Given the description of an element on the screen output the (x, y) to click on. 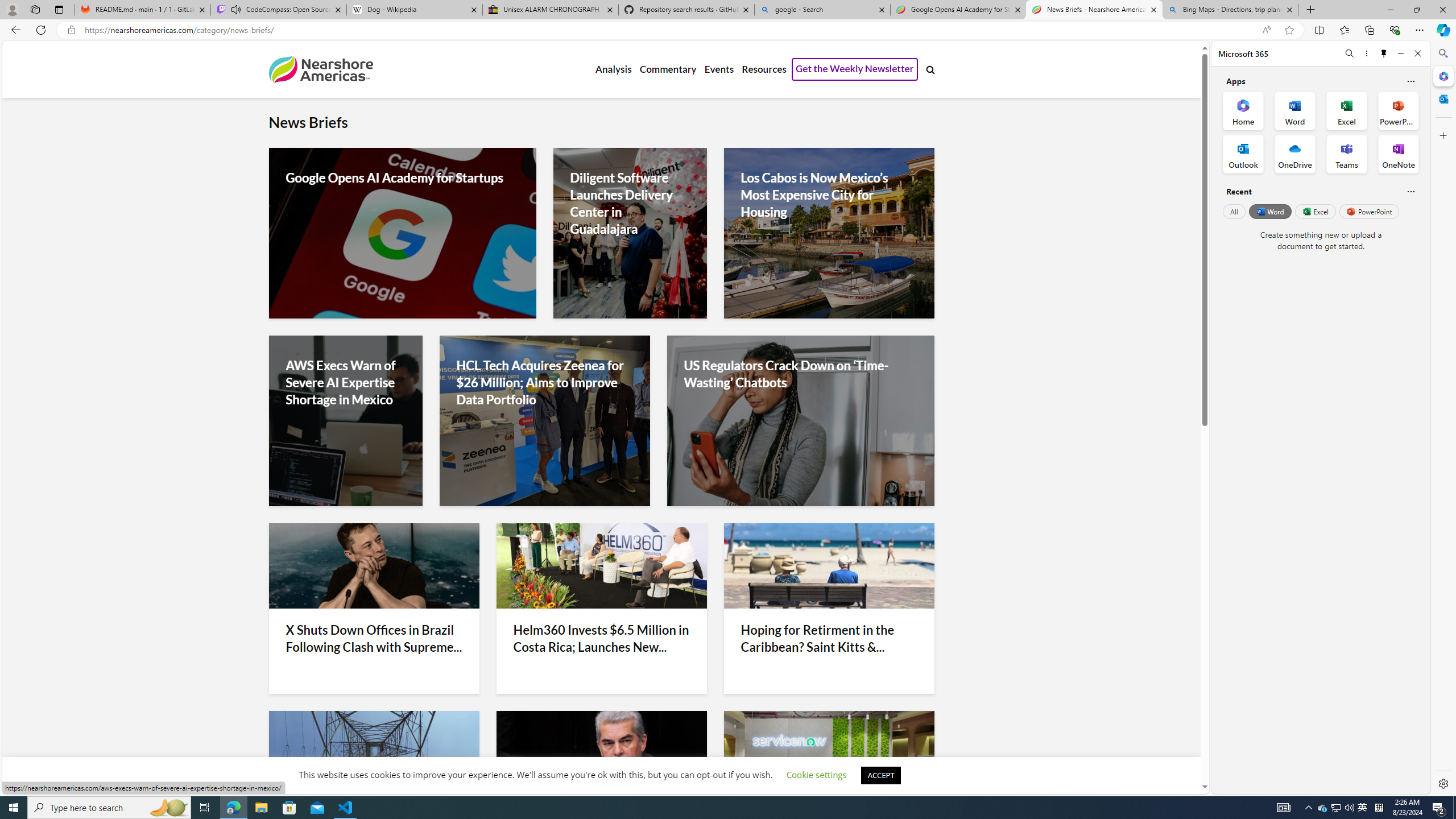
servicenow costa Rica (828, 753)
Home Office App (1243, 110)
Outlook Office App (1243, 154)
ACCEPT (880, 775)
servicenow costa Rica (828, 753)
All (1233, 210)
OneDrive Office App (1295, 154)
